Given the description of an element on the screen output the (x, y) to click on. 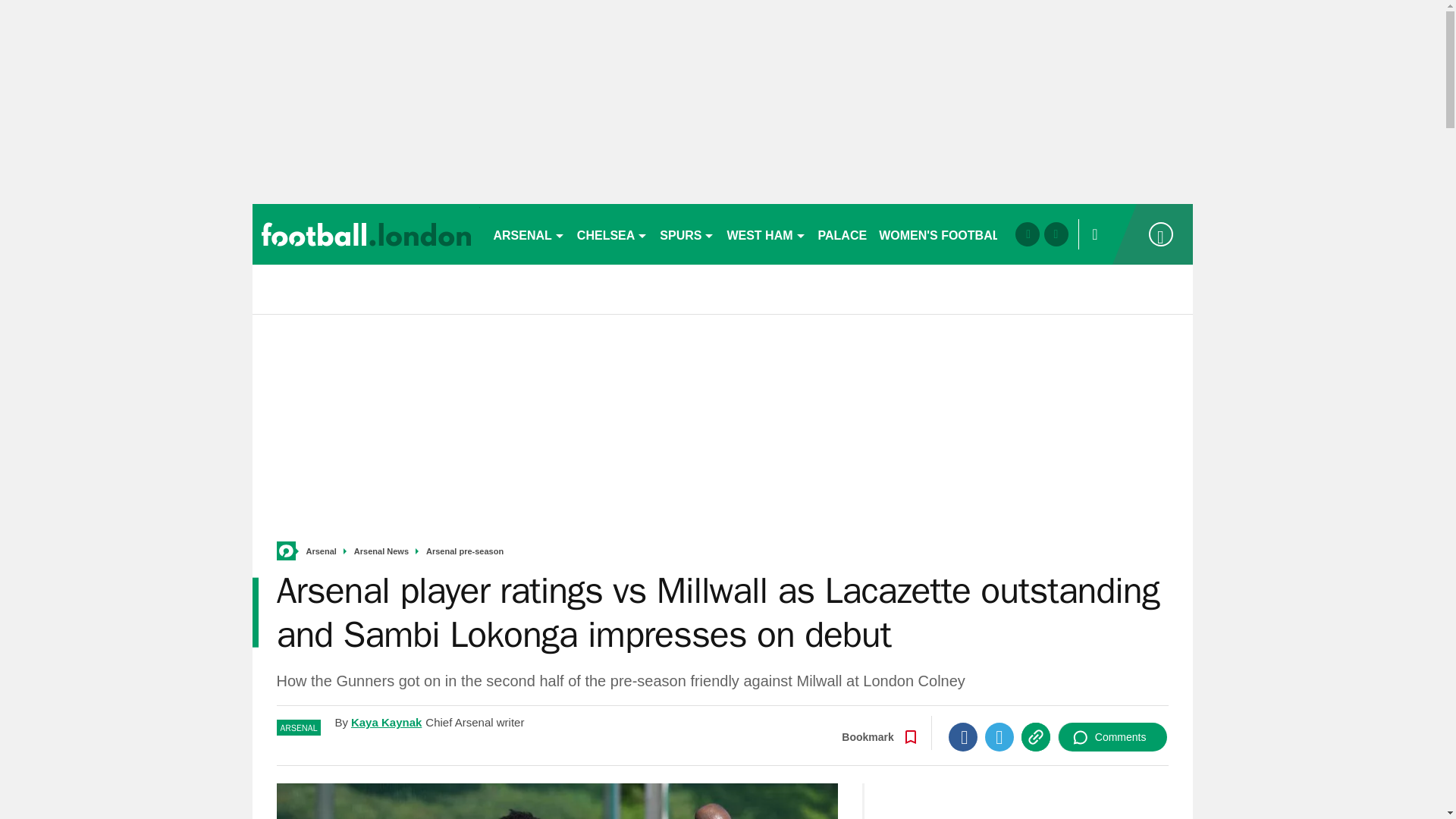
Twitter (999, 736)
twitter (1055, 233)
WOMEN'S FOOTBALL (942, 233)
footballlondon (365, 233)
Facebook (962, 736)
facebook (1026, 233)
ARSENAL (528, 233)
SPURS (686, 233)
CHELSEA (611, 233)
PALACE (842, 233)
WEST HAM (765, 233)
Comments (1112, 736)
